Given the description of an element on the screen output the (x, y) to click on. 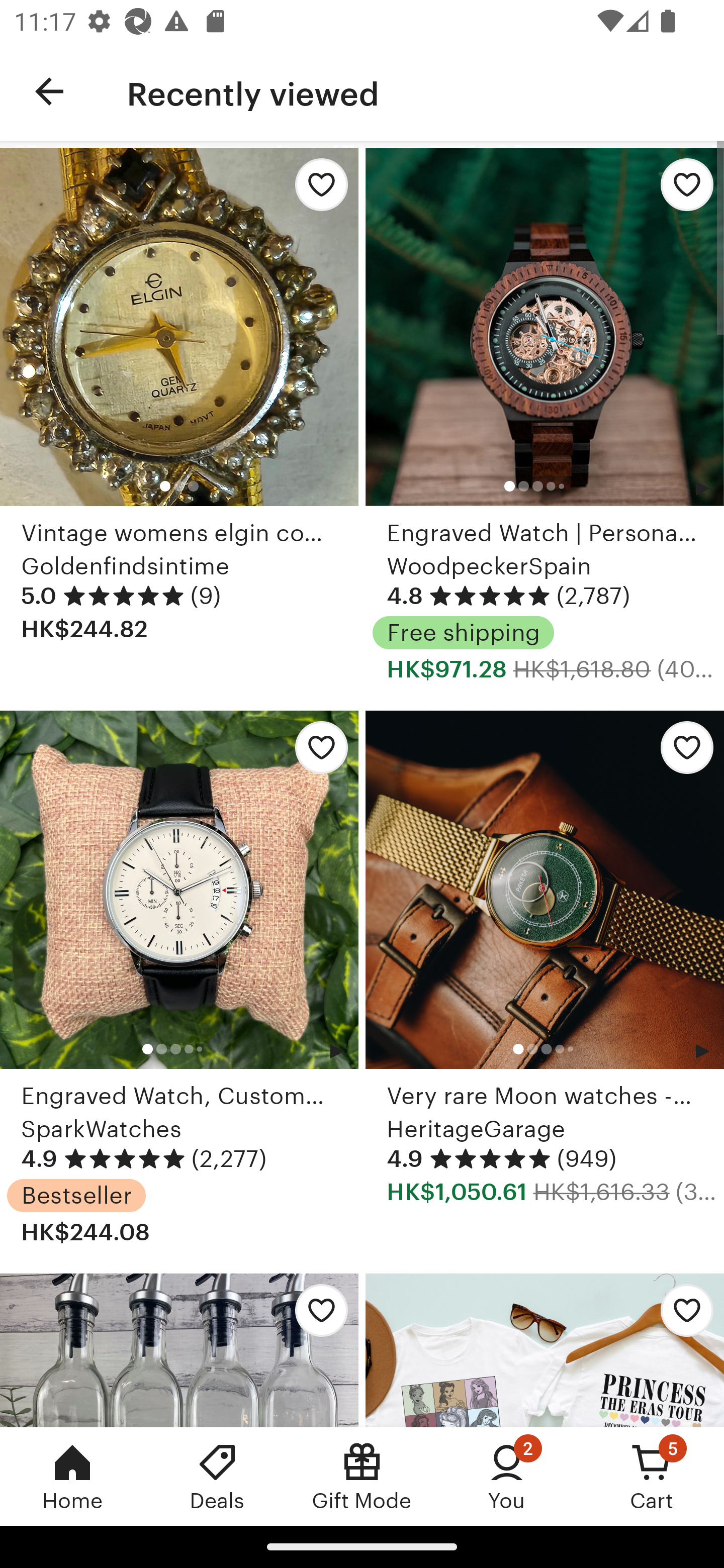
Navigate up (49, 91)
Deals (216, 1475)
Gift Mode (361, 1475)
You, 2 new notifications You (506, 1475)
Cart, 5 new notifications Cart (651, 1475)
